Given the description of an element on the screen output the (x, y) to click on. 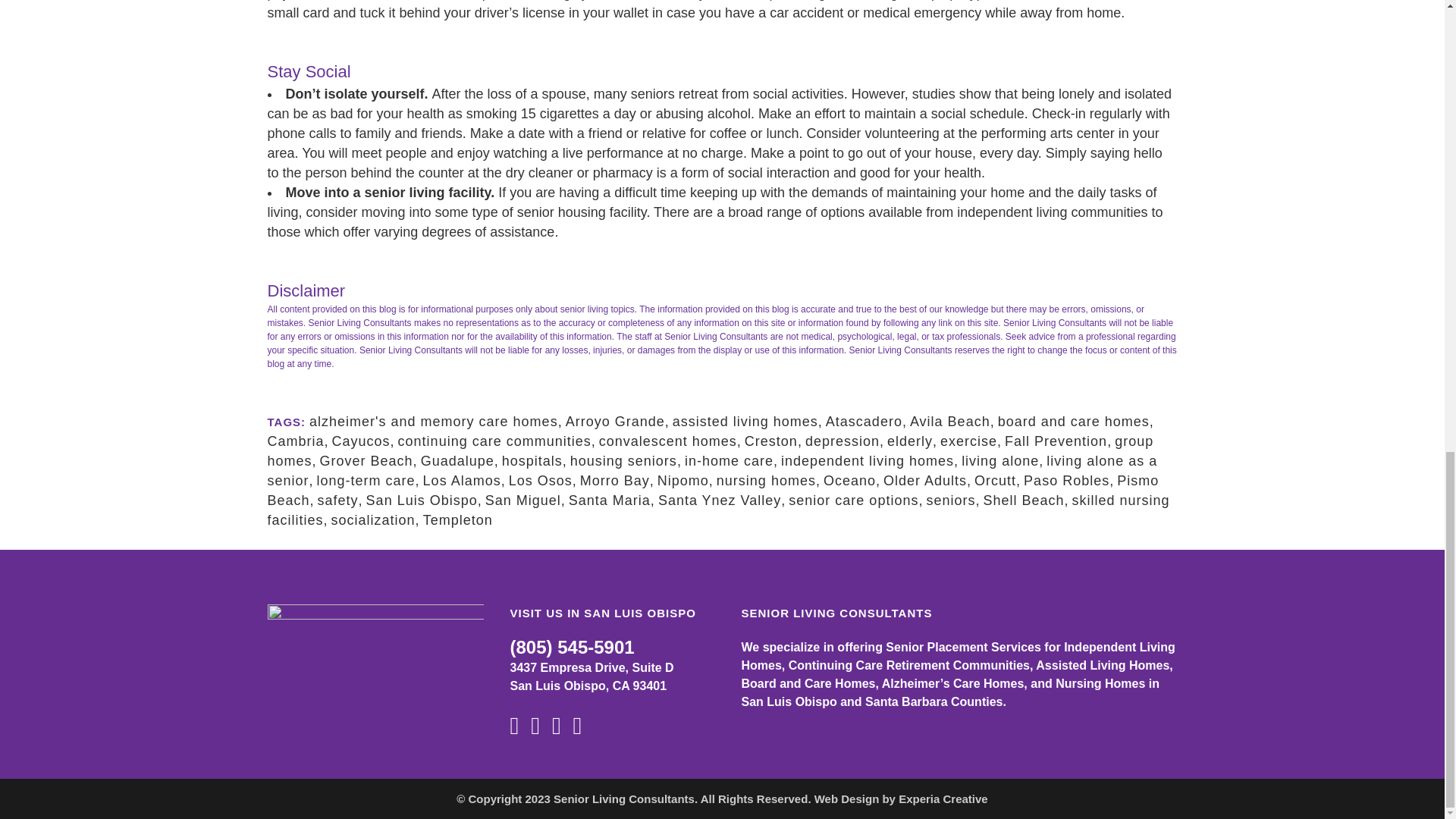
Arroyo Grande (615, 421)
alzheimer's and memory care homes (432, 421)
Page 15 (721, 306)
